Given the description of an element on the screen output the (x, y) to click on. 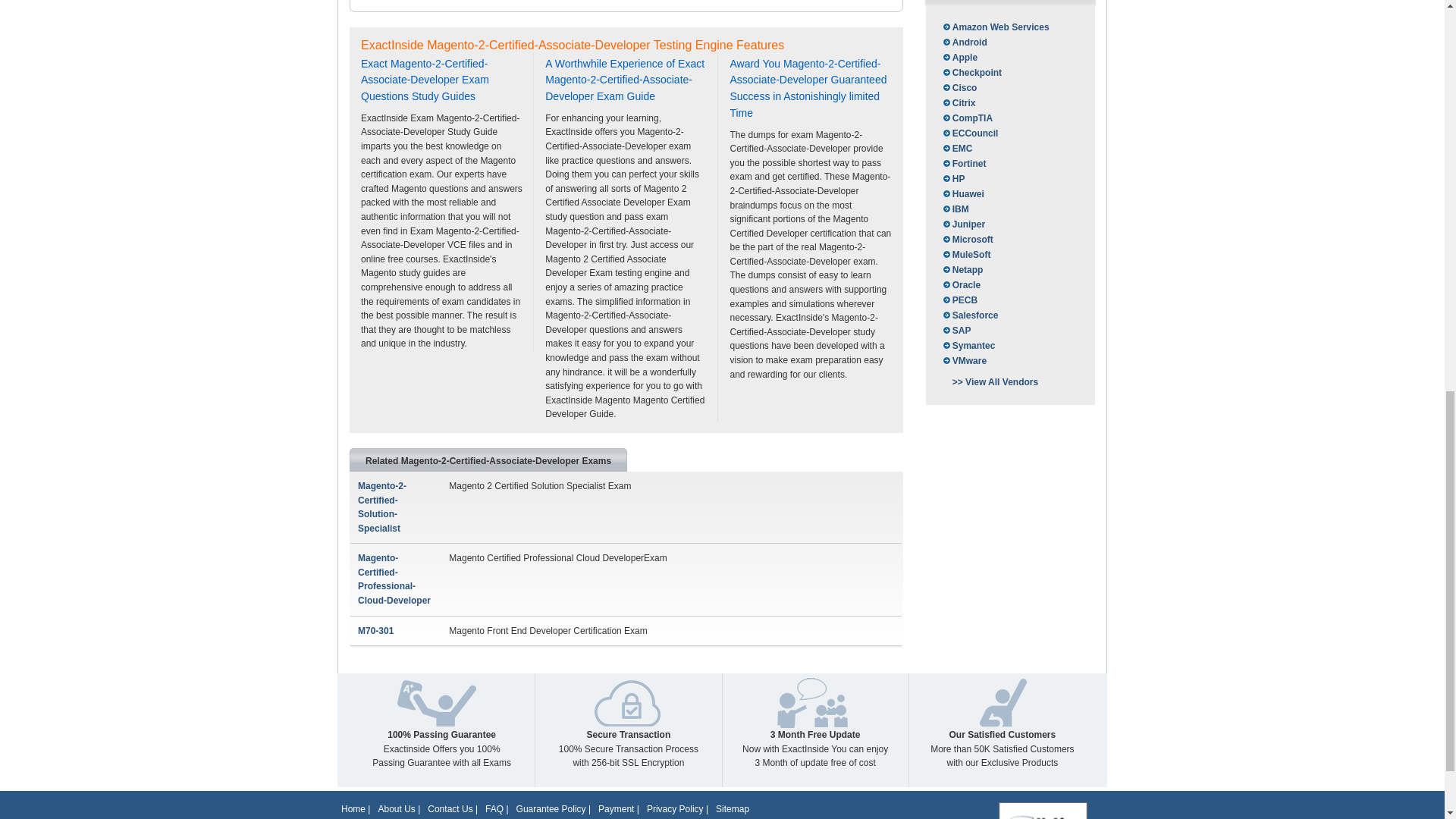
Citrix (957, 102)
MuleSoft (965, 254)
Netapp (962, 269)
Amazon Web Services (994, 27)
M70-301 (375, 630)
Salesforce (969, 314)
ECCouncil (969, 133)
Fortinet (963, 163)
Apple (958, 57)
Apple (958, 57)
PECB (958, 299)
Checkpoint (970, 72)
Amazon Web Services (994, 27)
Juniper (962, 224)
CompTIA (966, 118)
